Given the description of an element on the screen output the (x, y) to click on. 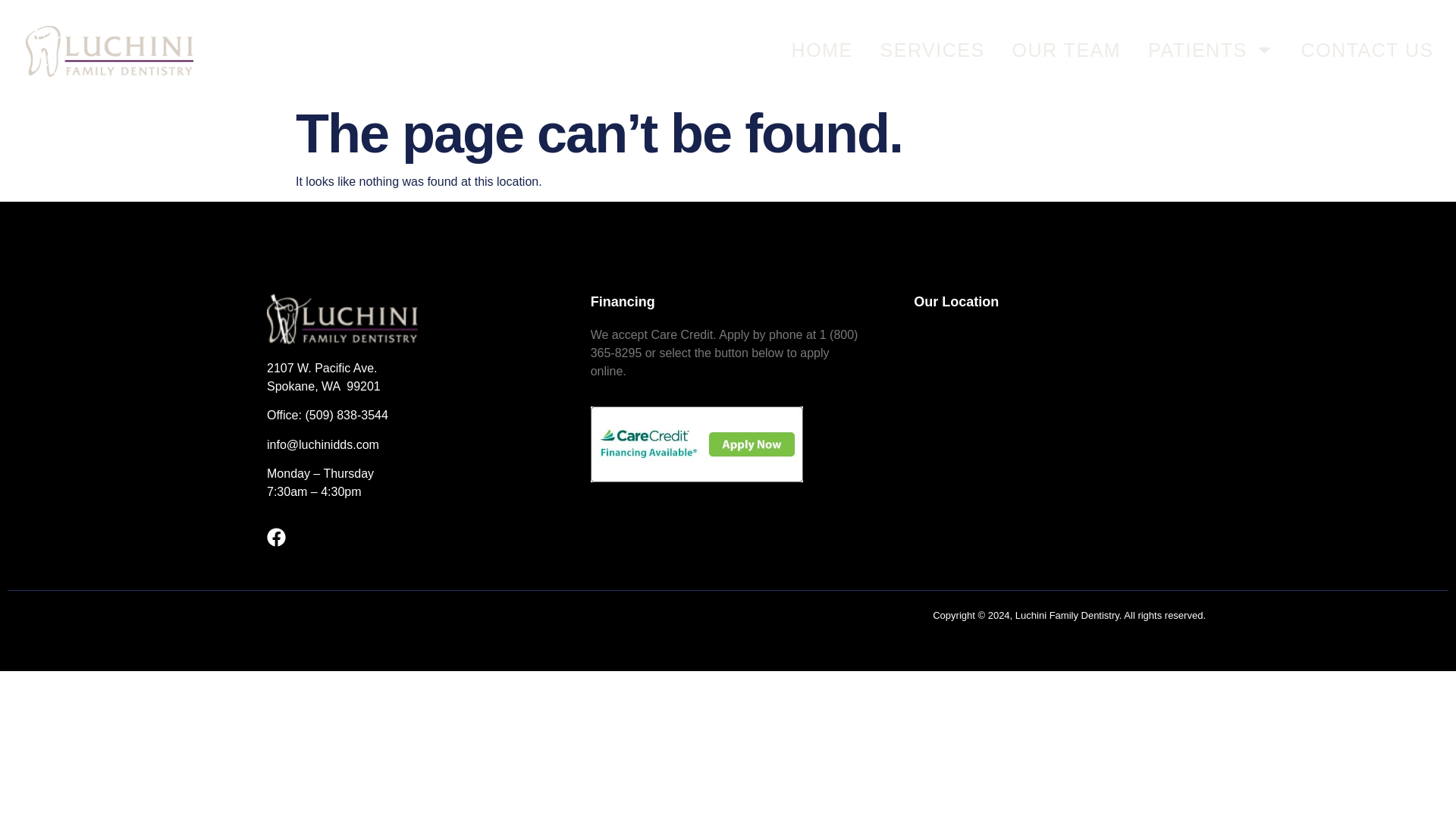
OUR TEAM (1066, 49)
2107 W. Pacific Ave. Spokane, WA  99201 (1051, 439)
PATIENTS (1211, 49)
Luchini-Family-Dentistry (341, 318)
SERVICES (932, 49)
CONTACT US (1367, 49)
HOME (822, 49)
